Given the description of an element on the screen output the (x, y) to click on. 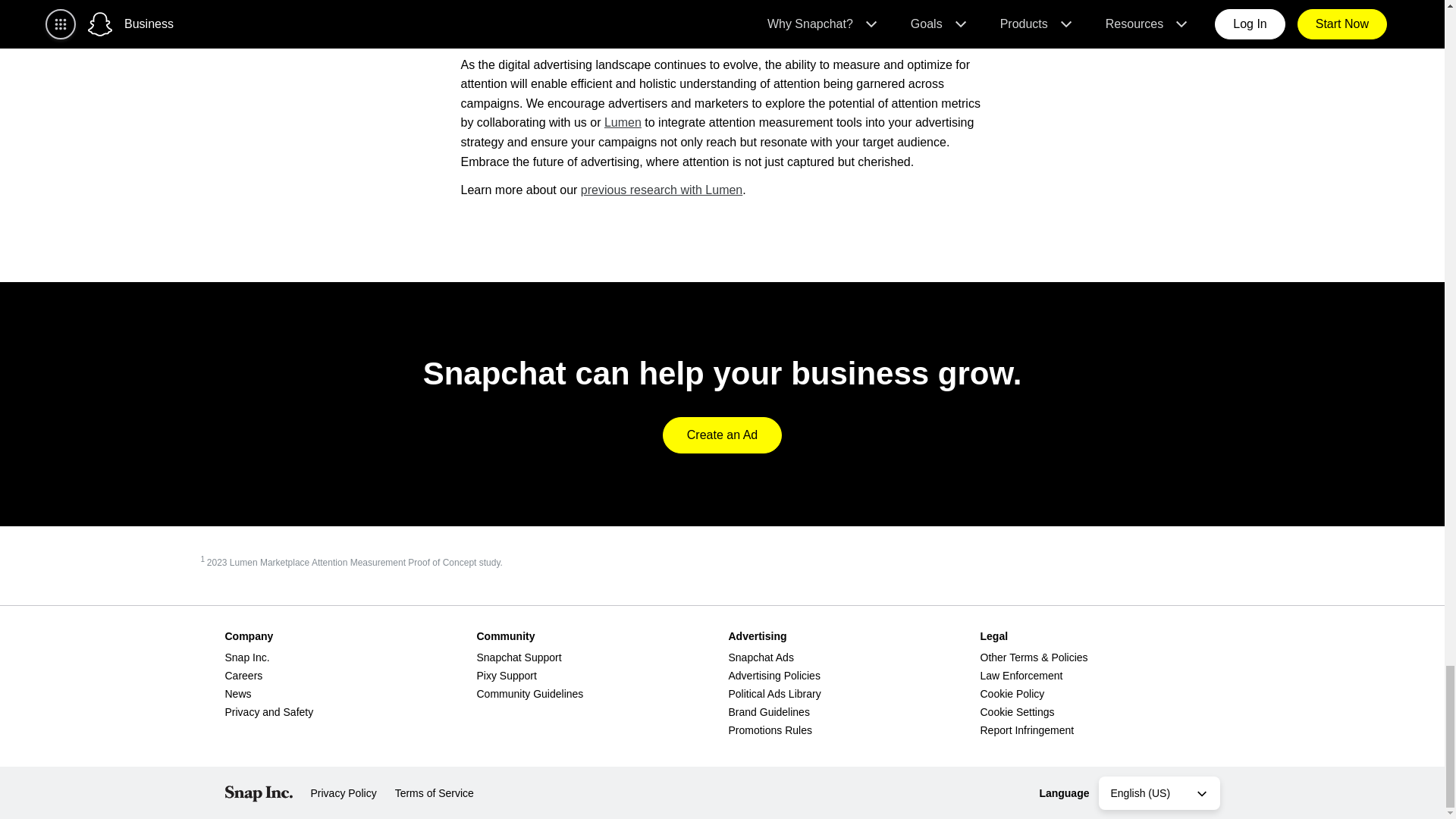
Pixy Support (505, 675)
Snapchat Support (518, 657)
Careers (243, 675)
Snapchat Ads (760, 657)
Snap Inc. (246, 657)
previous research with Lumen (661, 189)
Privacy and Safety (268, 711)
News (237, 693)
Advertising Policies (773, 675)
Community Guidelines (529, 693)
